Given the description of an element on the screen output the (x, y) to click on. 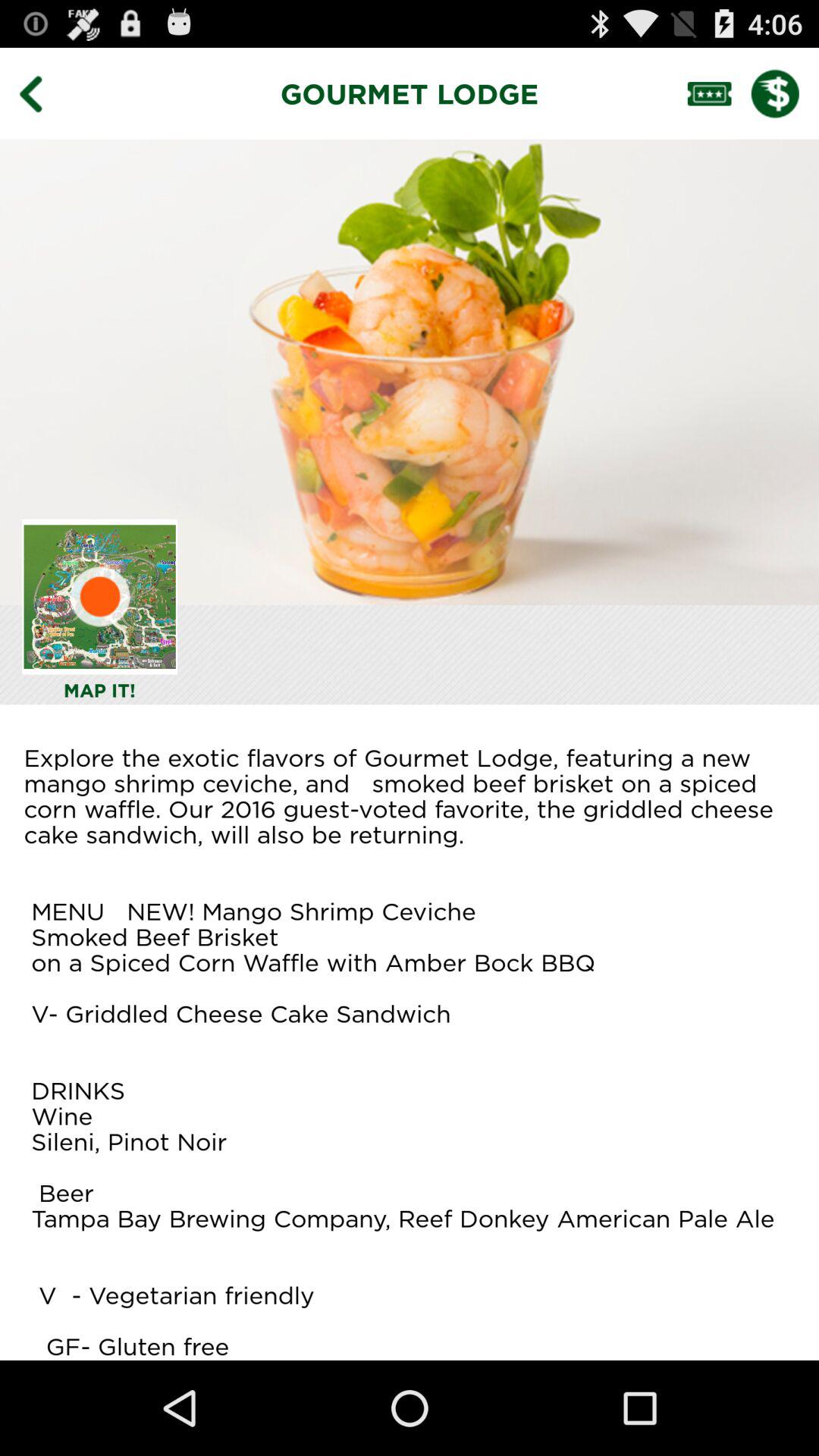
tap the icon at the top left corner (41, 93)
